Given the description of an element on the screen output the (x, y) to click on. 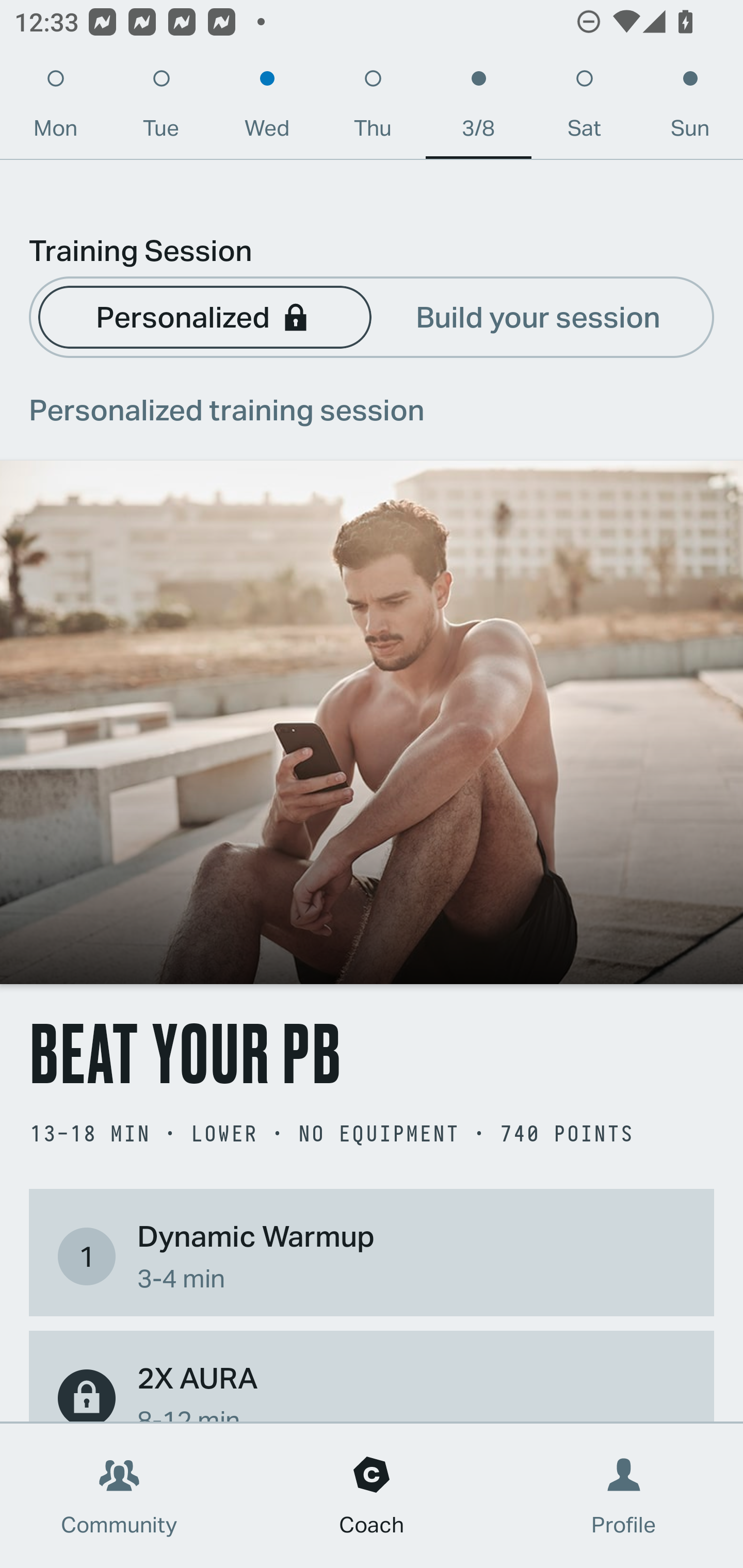
Mon (55, 108)
Tue (160, 108)
Wed (266, 108)
Thu (372, 108)
3/8 (478, 108)
Sat (584, 108)
Sun (690, 108)
Personalized (204, 315)
Build your session (538, 315)
1 Dynamic Warmup 3-4 min (371, 1256)
2X AURA 8-12 min (371, 1388)
Community (119, 1495)
Profile (624, 1495)
